Given the description of an element on the screen output the (x, y) to click on. 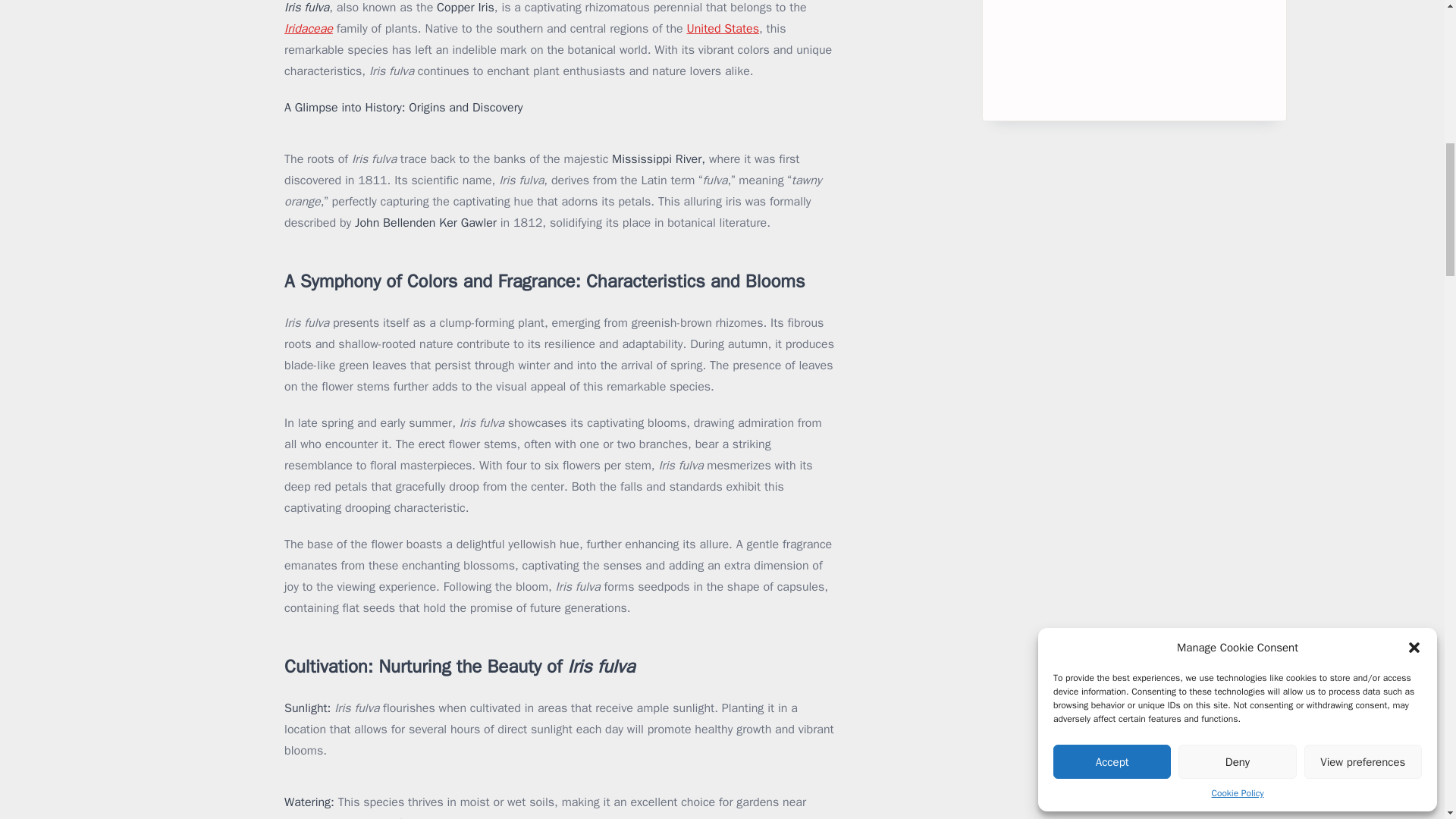
Iridaceae (308, 28)
Advertisement (1133, 55)
United States (721, 28)
